Given the description of an element on the screen output the (x, y) to click on. 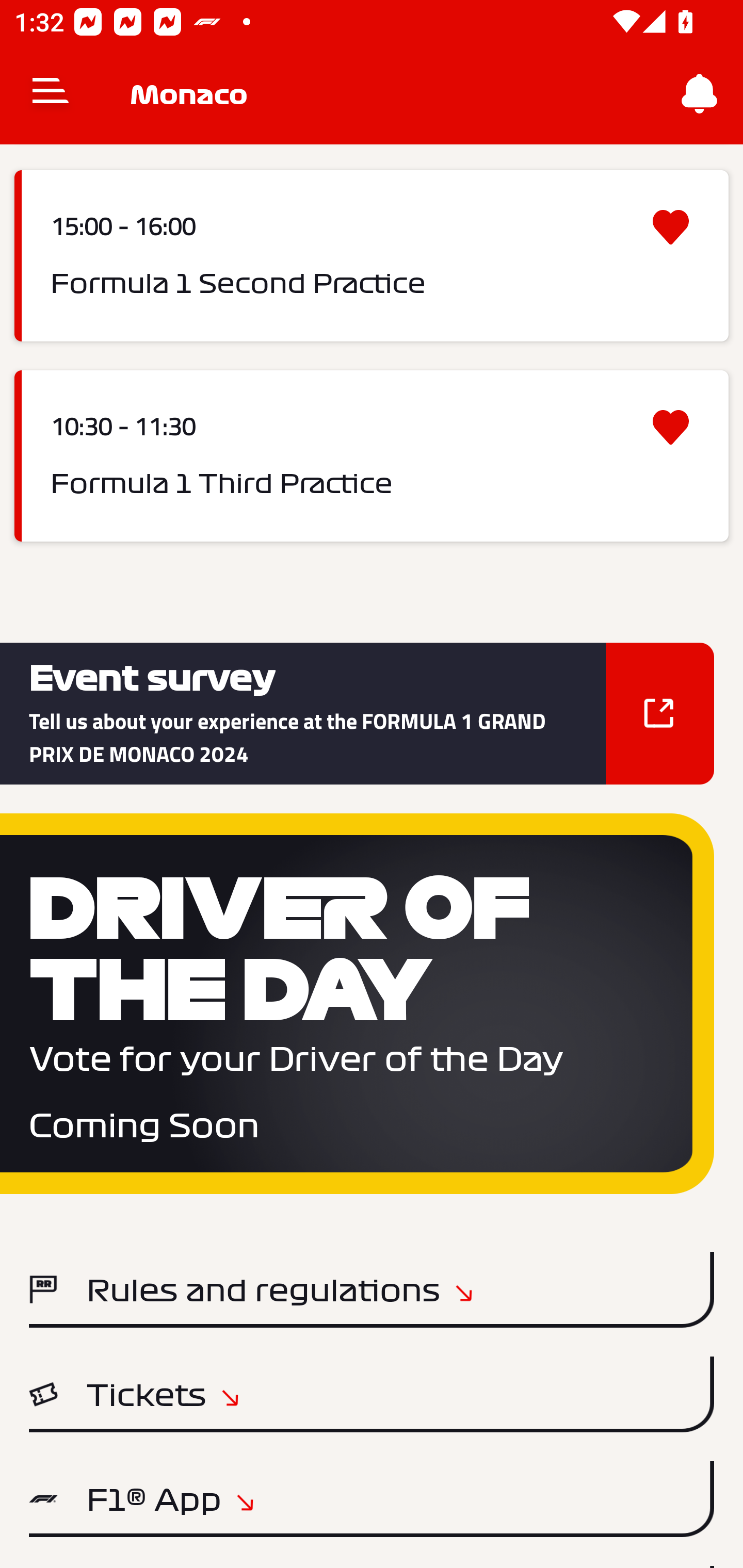
Navigate up (50, 93)
Notifications (699, 93)
15:00 - 16:00 Formula 1 Second Practice (371, 255)
10:30 - 11:30 Formula 1 Third Practice (371, 455)
Rules and regulations (371, 1289)
Tickets (371, 1393)
F1® App (371, 1498)
